Given the description of an element on the screen output the (x, y) to click on. 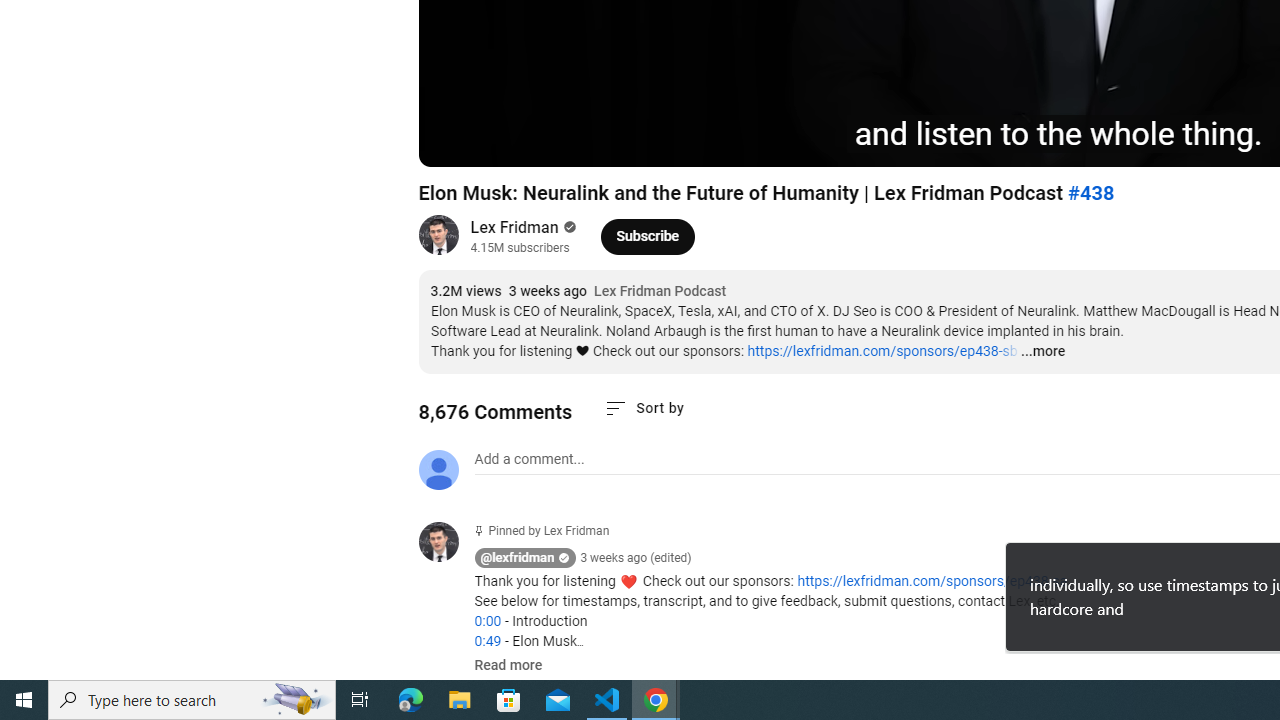
https://lexfridman.com/sponsors/ep438-sa (932, 581)
Subscribe to Lex Fridman. (648, 236)
...more (1042, 352)
0:49 (487, 641)
Play (k) (453, 142)
Default profile photo (438, 470)
#438 (1090, 193)
@lexfridman (517, 557)
Mute (m) (548, 142)
@lexfridman (446, 543)
Read more (507, 665)
3 weeks ago (edited) (635, 557)
Next (SHIFT+n) (500, 142)
Verified (567, 227)
